Given the description of an element on the screen output the (x, y) to click on. 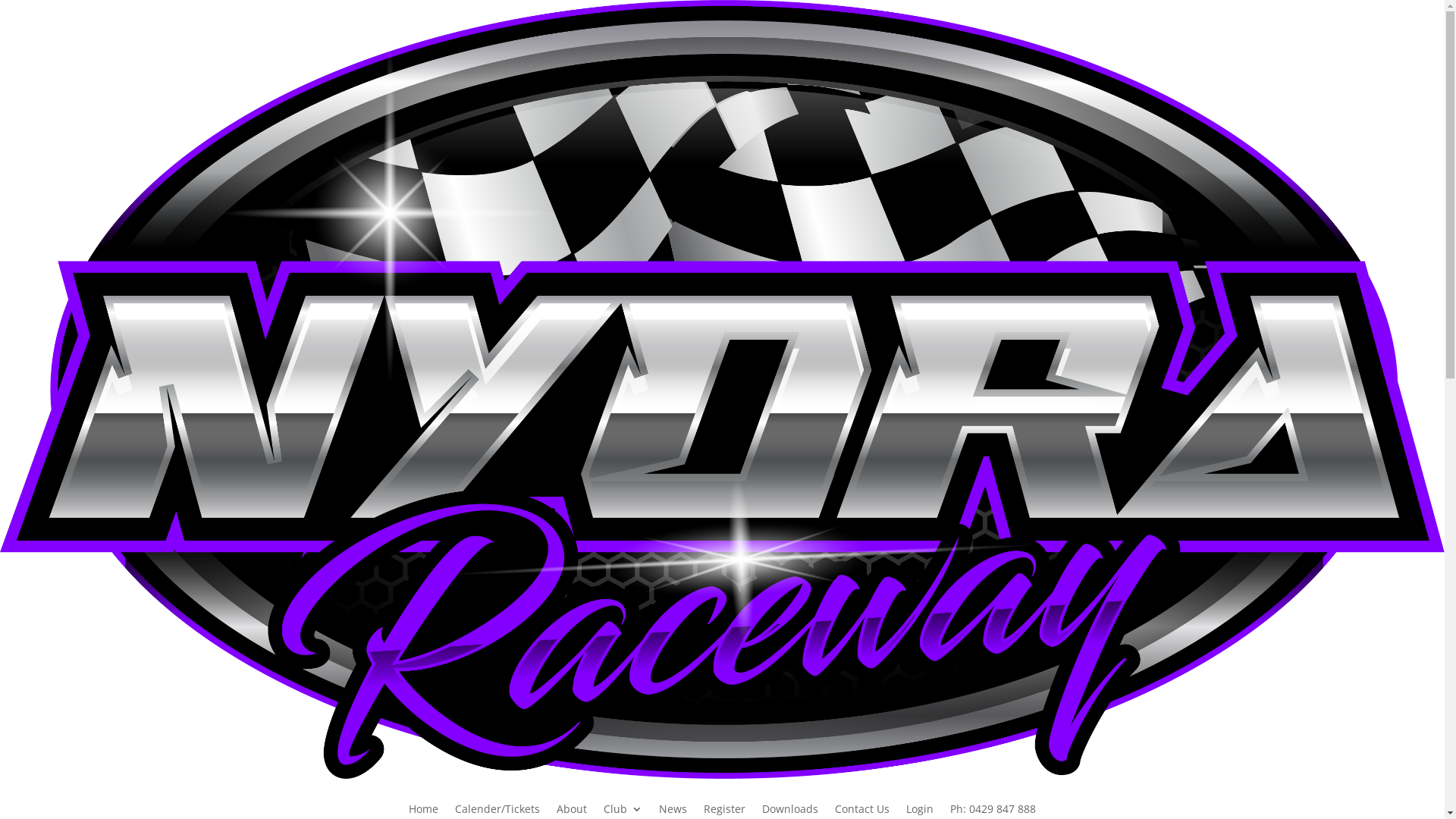
nyora header 2022 Element type: hover (722, 389)
